Given the description of an element on the screen output the (x, y) to click on. 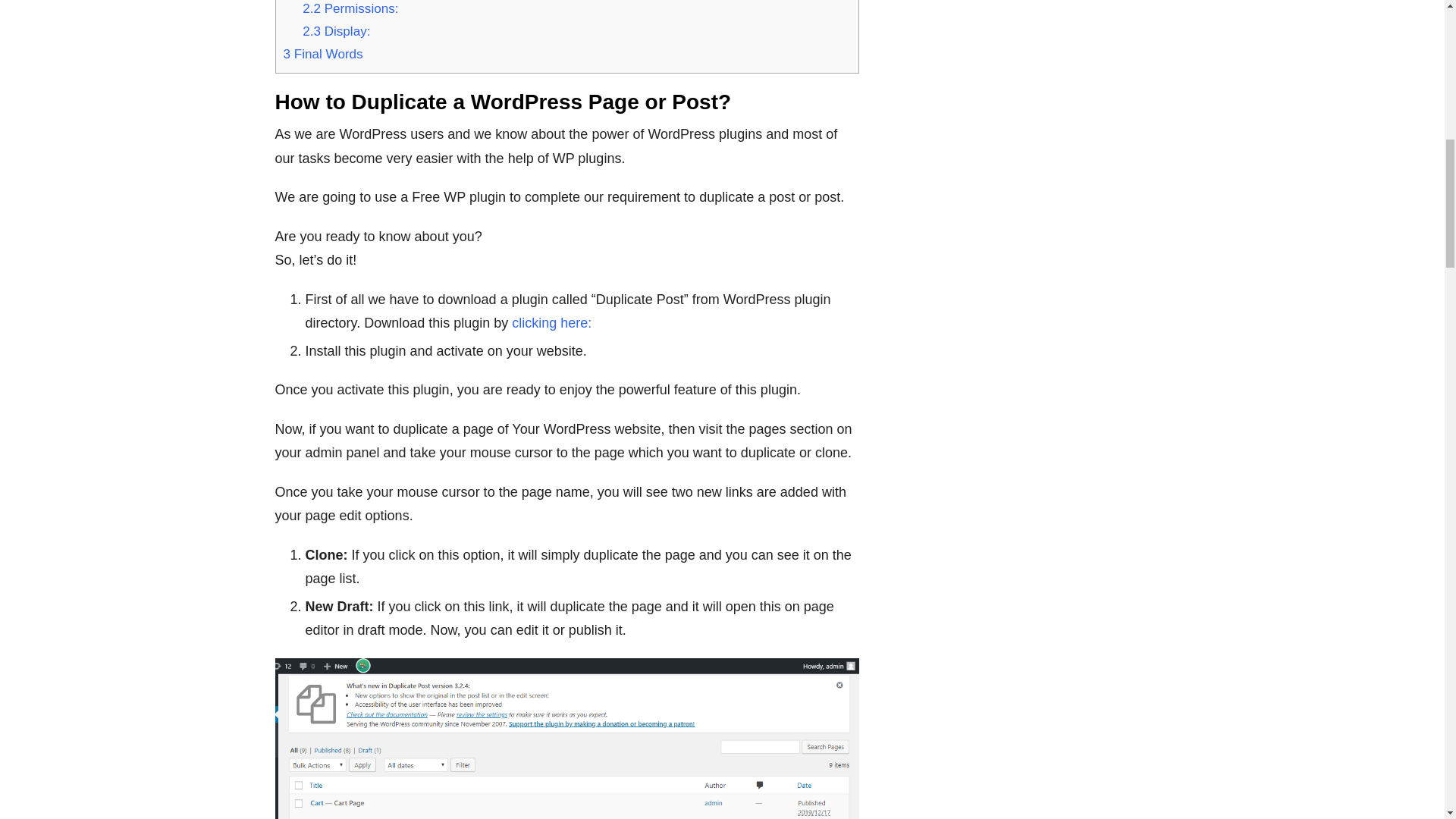
2.3 Display: (335, 31)
clicking here: (551, 322)
3 Final Words (322, 53)
2.2 Permissions: (349, 8)
